Given the description of an element on the screen output the (x, y) to click on. 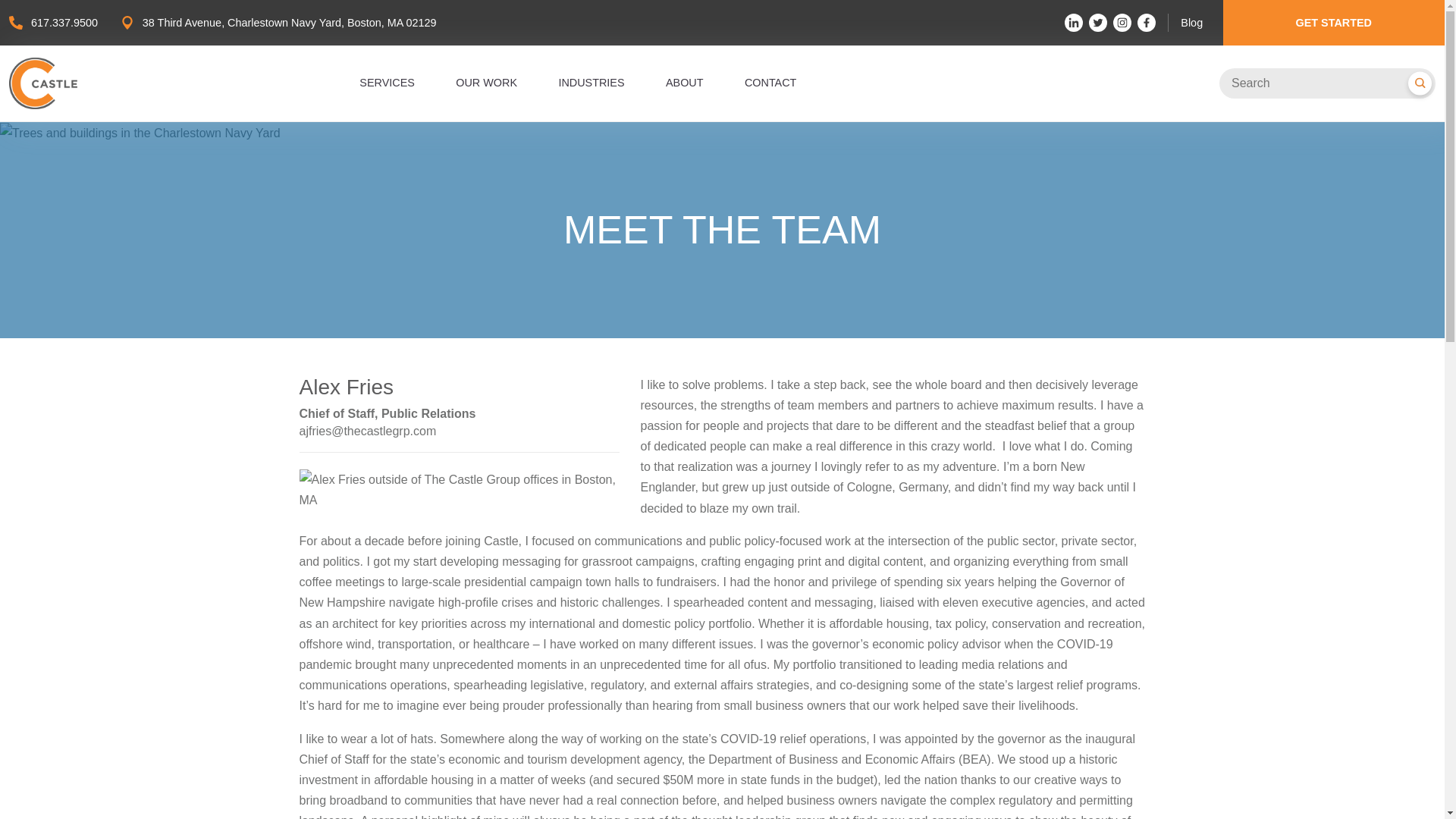
OUR WORK (485, 82)
Facebook (1146, 22)
617.337.9500 (63, 22)
Instagram (1122, 22)
INDUSTRIES (590, 82)
LinkedIn (1073, 22)
SERVICES (386, 82)
Back to The Castle Group Homepage (42, 82)
Blog (1191, 22)
38 Third Avenue, Charlestown Navy Yard, Boston, MA 02129 (289, 22)
Twitter (1097, 22)
ABOUT (684, 82)
